Given the description of an element on the screen output the (x, y) to click on. 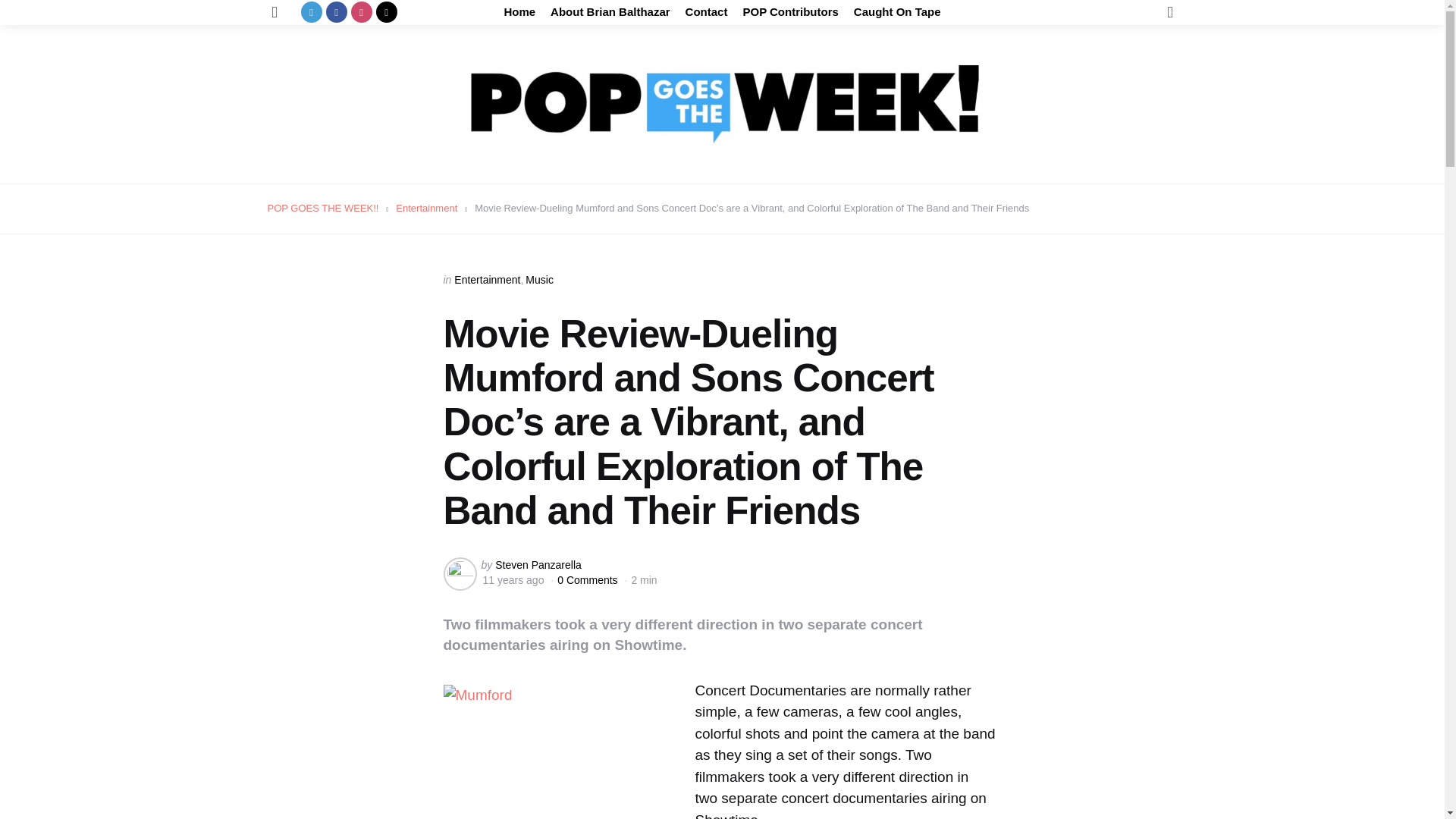
Home (519, 12)
Music (539, 279)
Entertainment (426, 207)
POP Contributors (790, 12)
Caught On Tape (896, 12)
About Brian Balthazar (609, 12)
POP GOES THE WEEK!! (322, 207)
Go to the Entertainment Category archives. (426, 207)
Contact (706, 12)
Entertainment (486, 279)
Go to POP GOES THE WEEK!!. (322, 207)
